Given the description of an element on the screen output the (x, y) to click on. 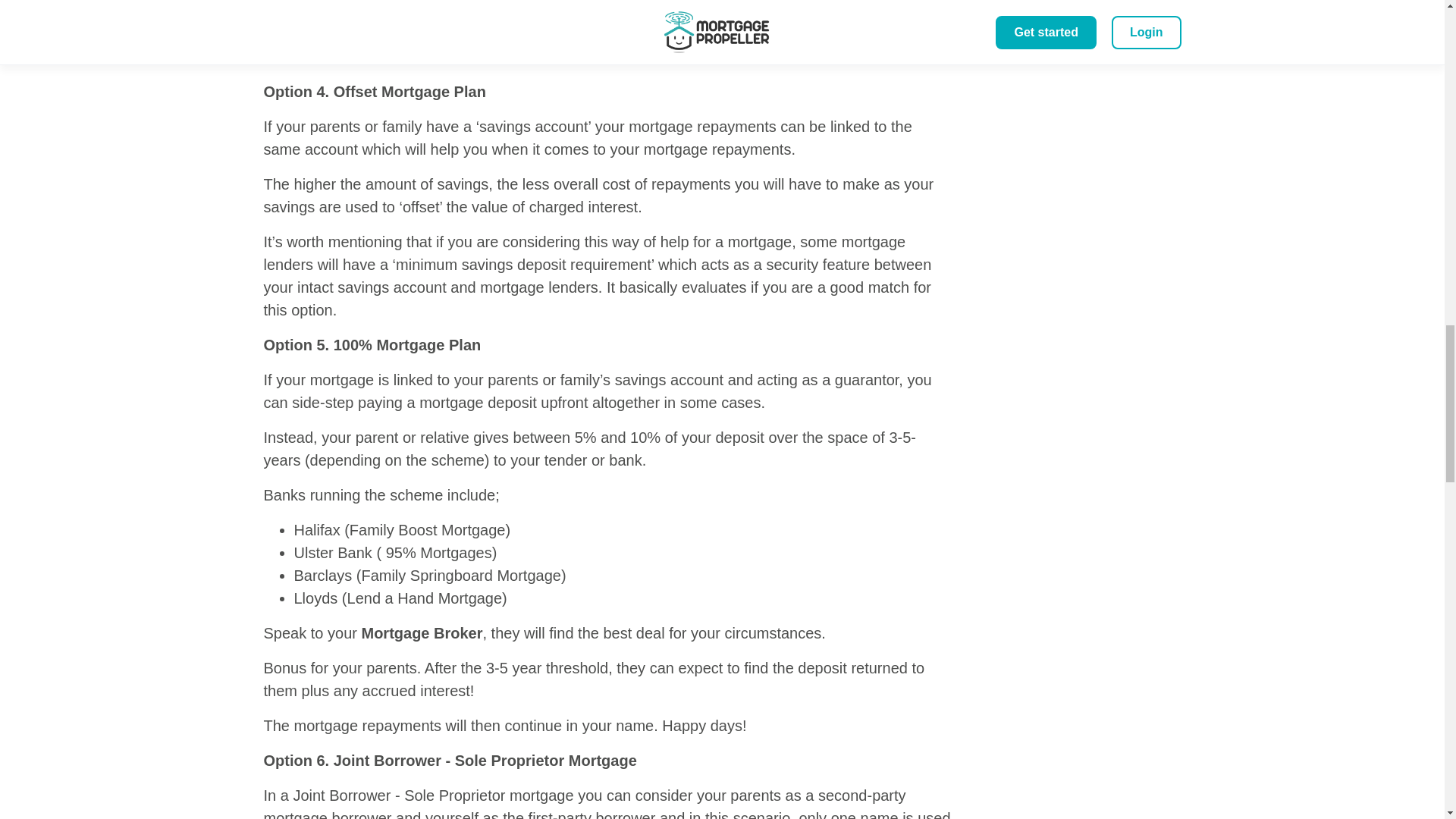
Halifax (317, 529)
Ulster Bank (333, 552)
here (613, 56)
Barclays (323, 575)
Lloyds (315, 597)
